Given the description of an element on the screen output the (x, y) to click on. 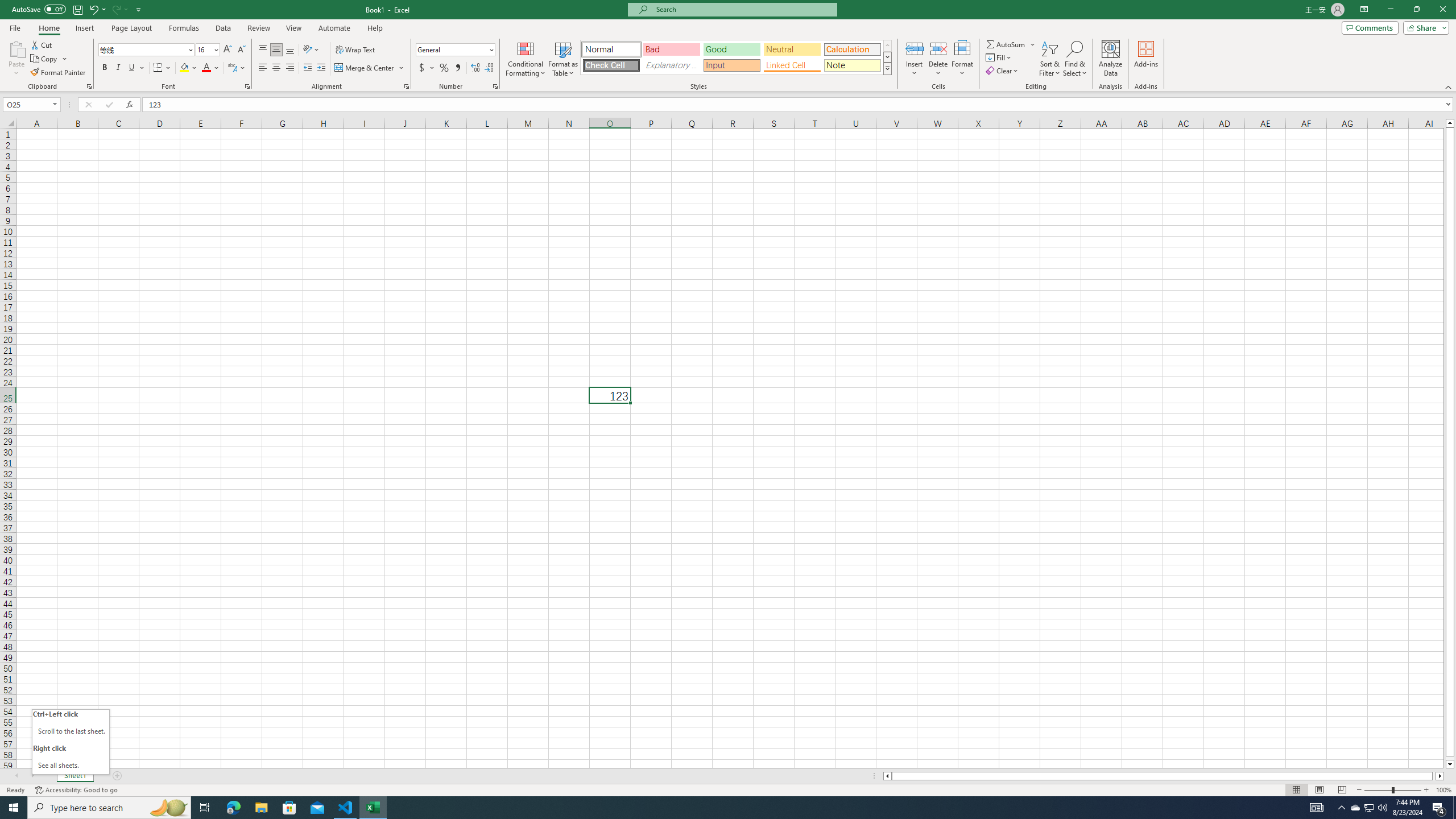
Format Painter (58, 72)
Merge & Center (365, 67)
Format Cell Number (494, 85)
Borders (162, 67)
Accounting Number Format (422, 67)
